Given the description of an element on the screen output the (x, y) to click on. 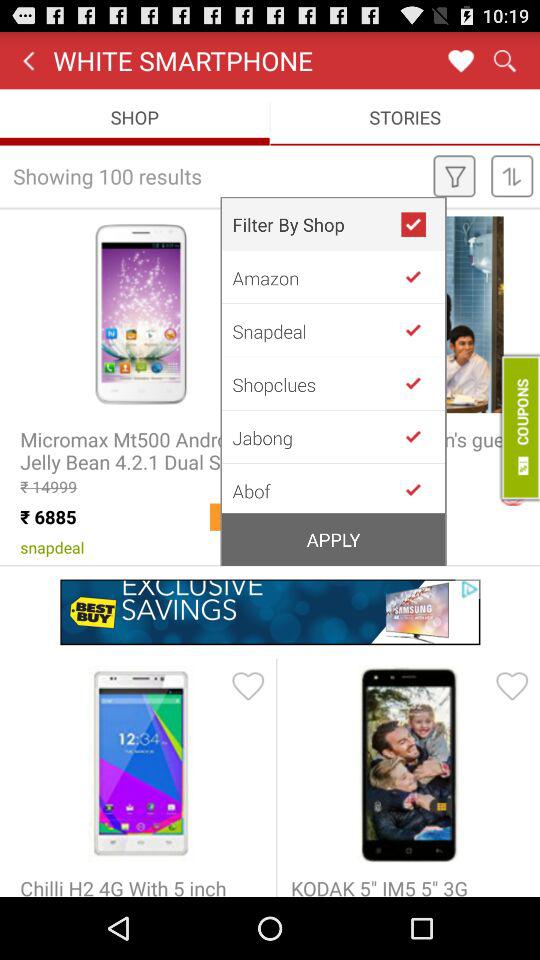
turn off the icon below shopclues item (316, 437)
